Given the description of an element on the screen output the (x, y) to click on. 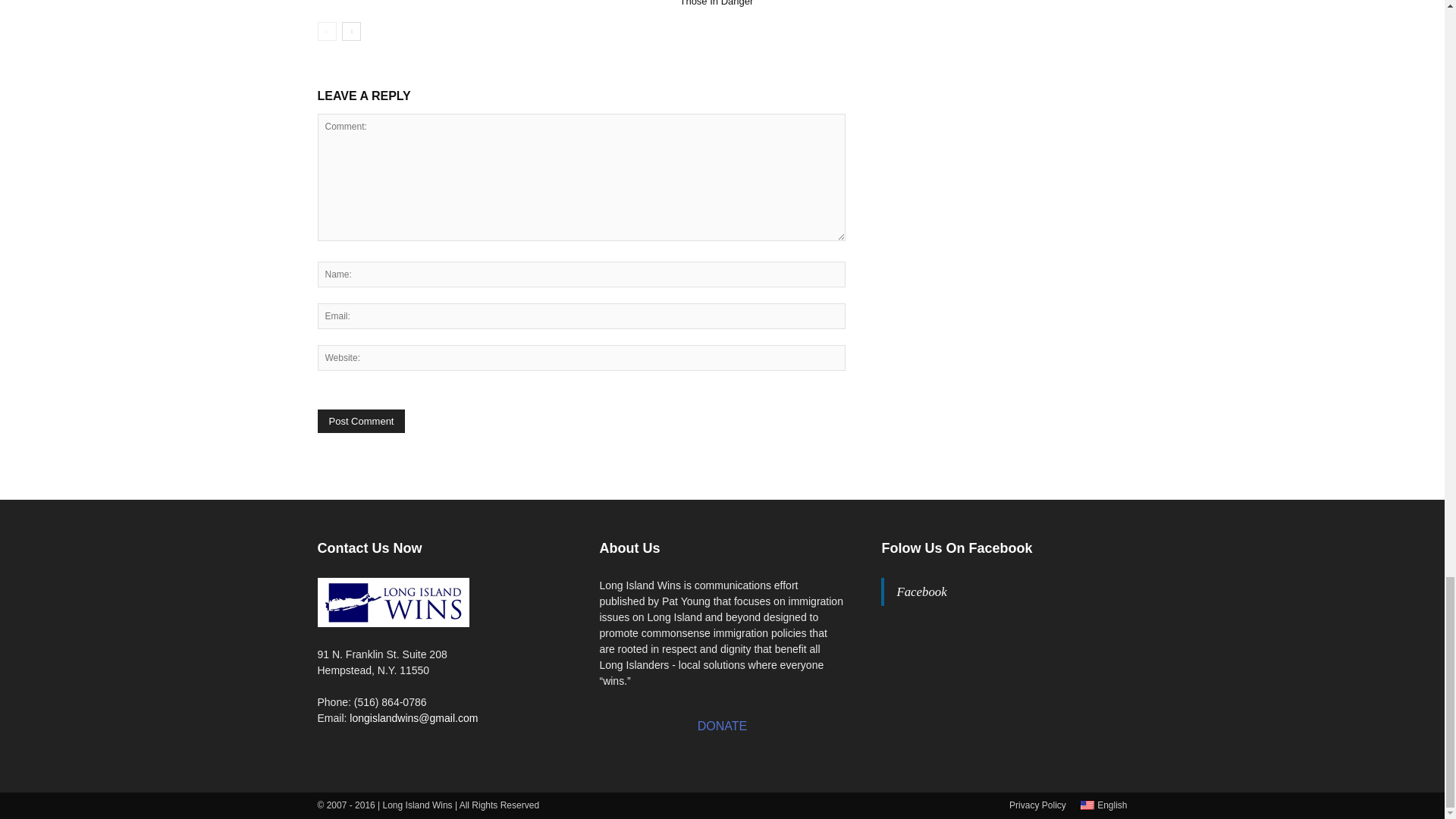
Post Comment (360, 421)
